Given the description of an element on the screen output the (x, y) to click on. 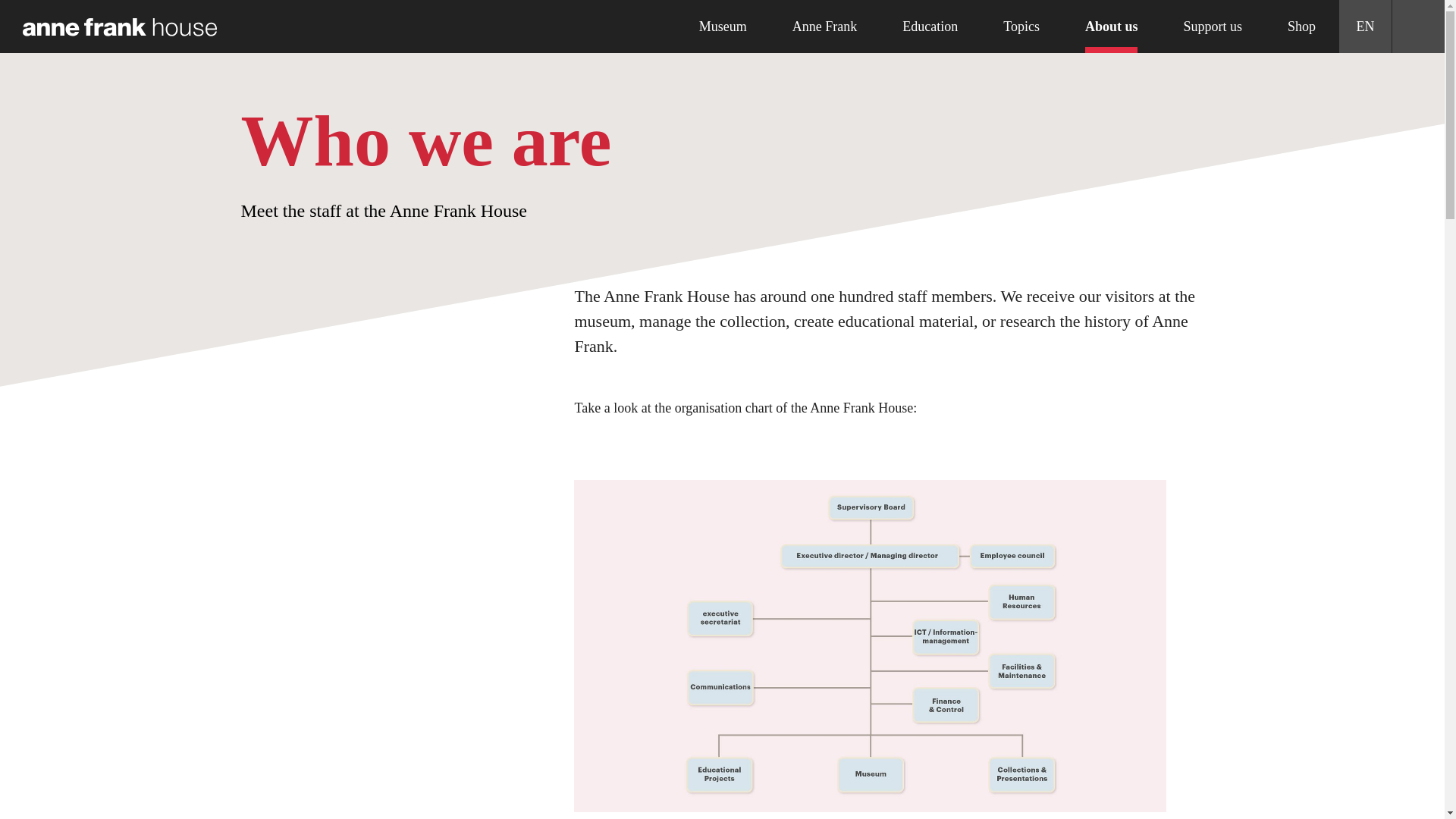
About us (1111, 26)
Education (929, 26)
Anne Frank (824, 26)
Topics (1020, 26)
Museum (723, 26)
Support us (1212, 26)
